Given the description of an element on the screen output the (x, y) to click on. 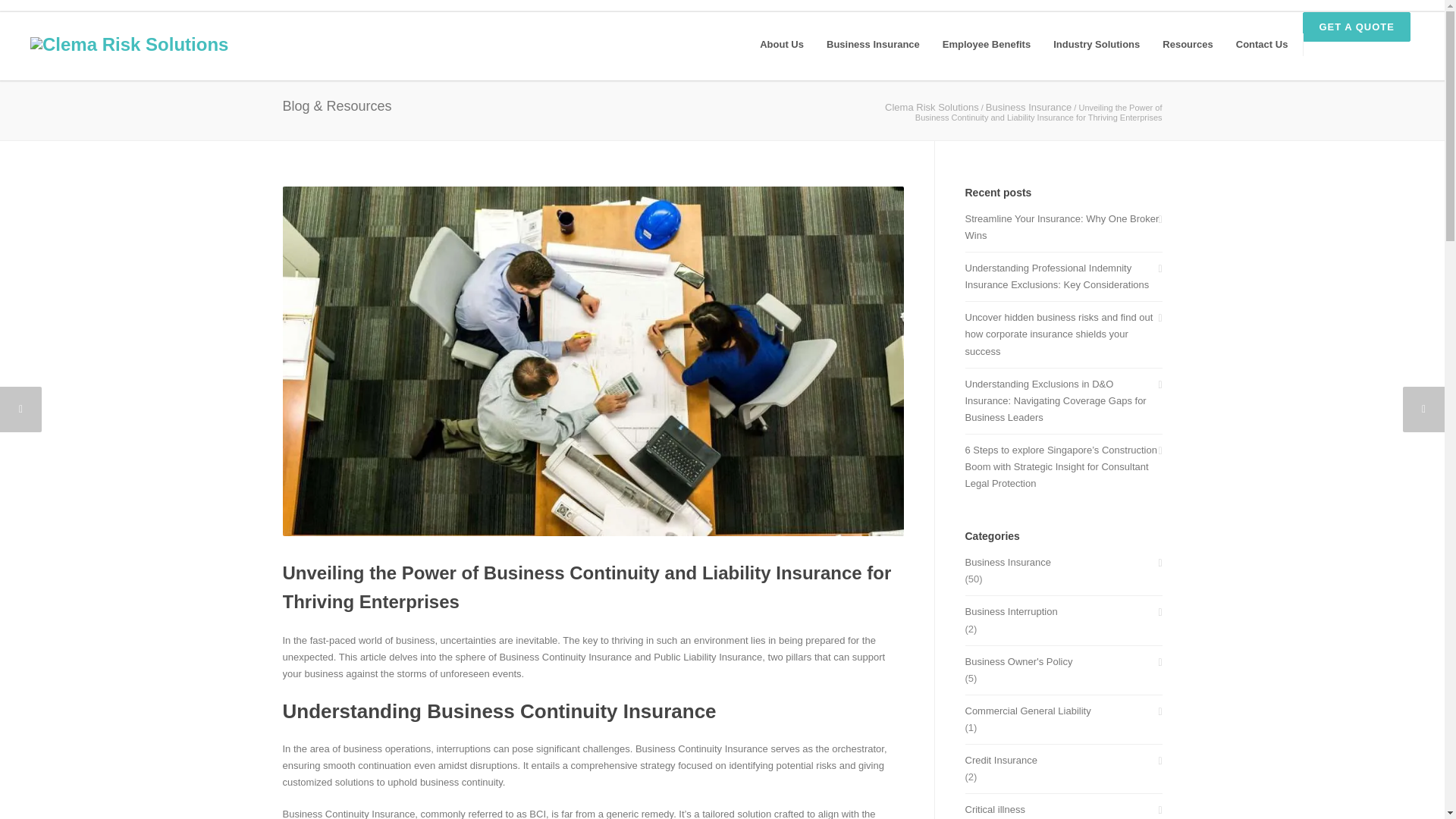
GET A QUOTE (1356, 26)
Employee Benefits (986, 44)
Contact Us (1262, 44)
Industry Solutions (1096, 44)
Resources (1187, 44)
About Us (781, 44)
Business Insurance (873, 44)
